Given the description of an element on the screen output the (x, y) to click on. 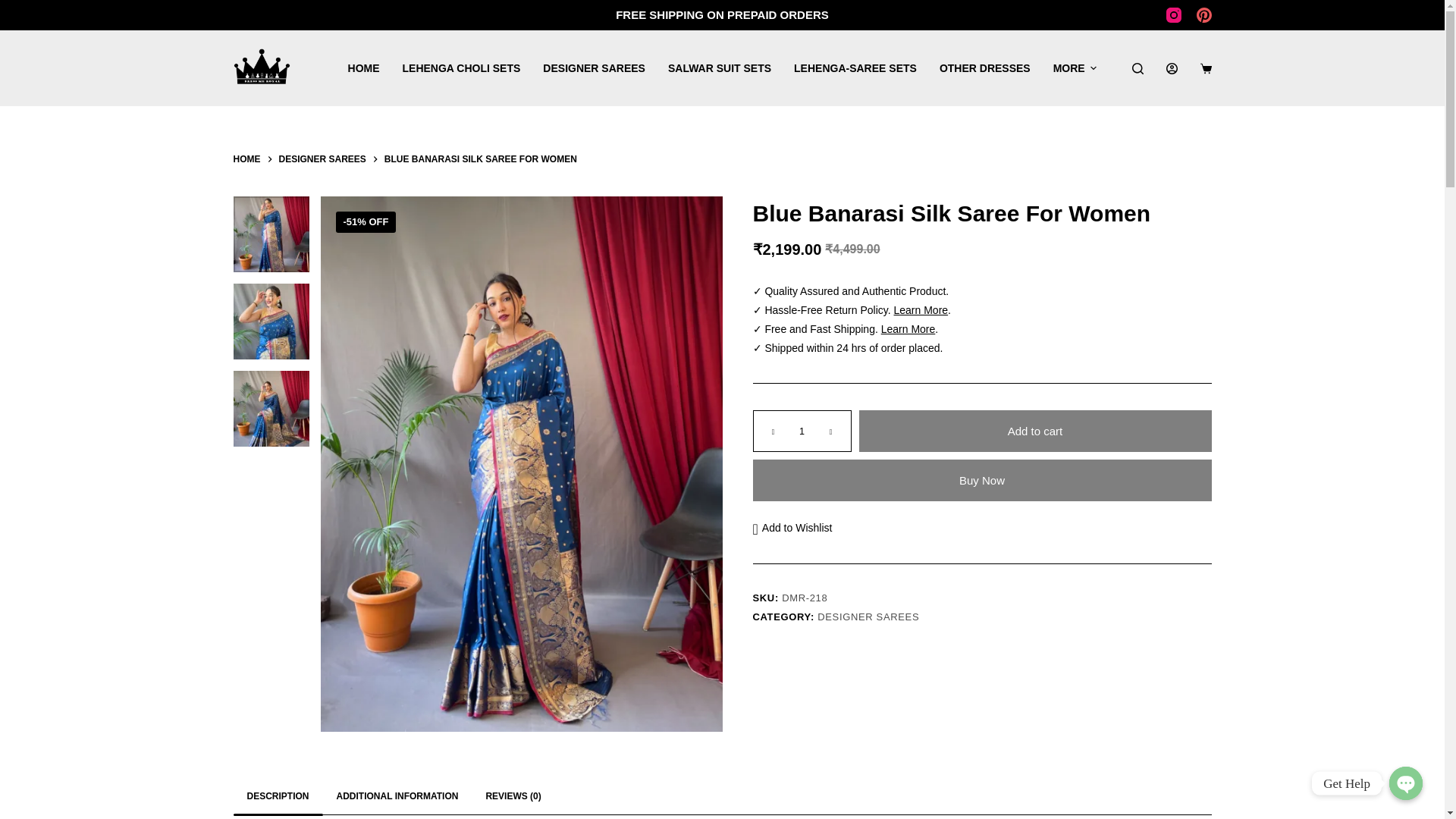
Skip to content (15, 7)
OTHER DRESSES (985, 68)
LEHENGA-SAREE SETS (855, 68)
LEHENGA CHOLI SETS (461, 68)
DESIGNER SAREES (593, 68)
SALWAR SUIT SETS (719, 68)
1 (801, 431)
